Given the description of an element on the screen output the (x, y) to click on. 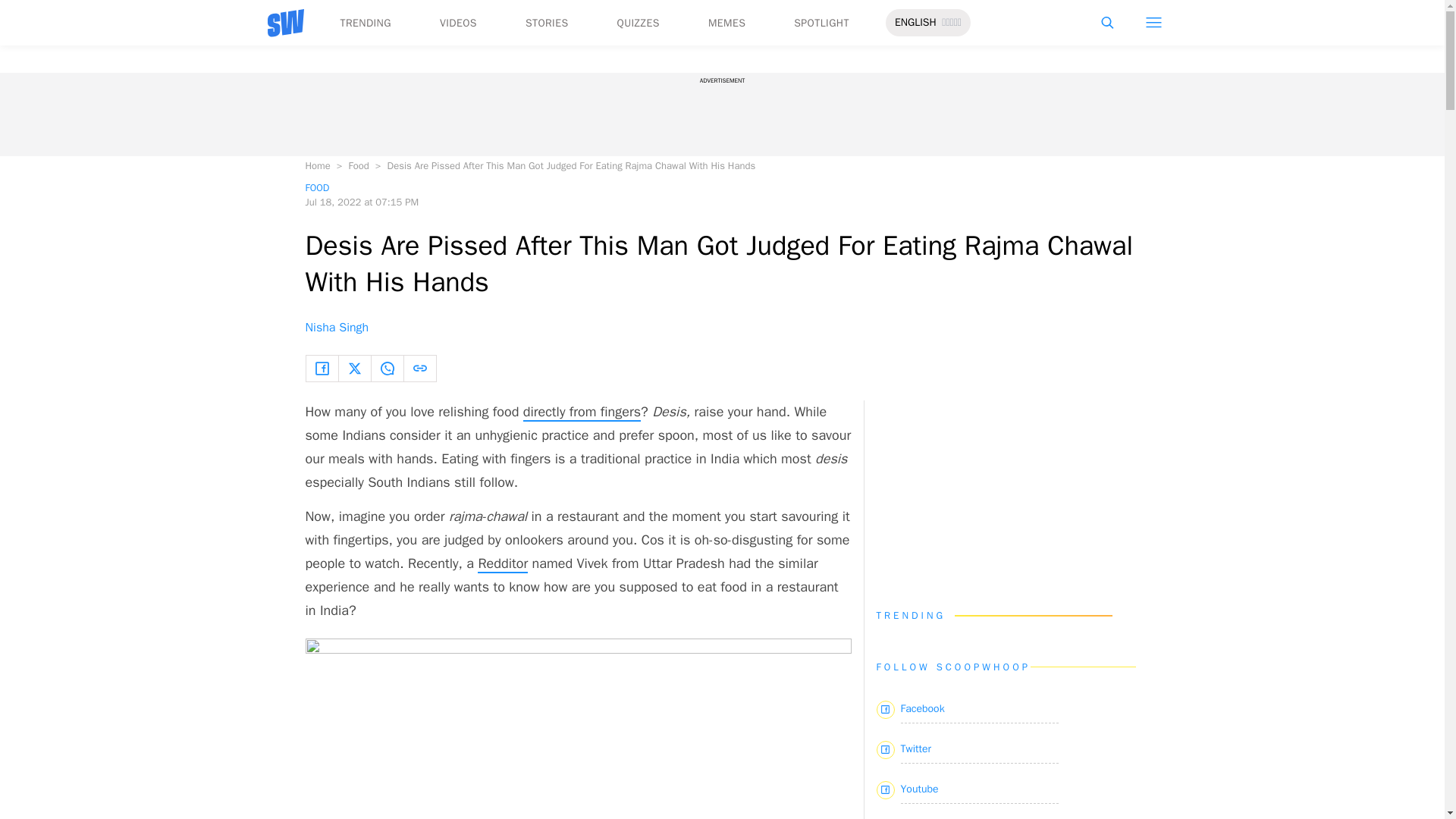
ENGLISH (915, 22)
STORIES (547, 22)
SPOTLIGHT (820, 22)
MEMES (726, 22)
TRENDING (364, 22)
VIDEOS (458, 22)
QUIZZES (638, 22)
